Given the description of an element on the screen output the (x, y) to click on. 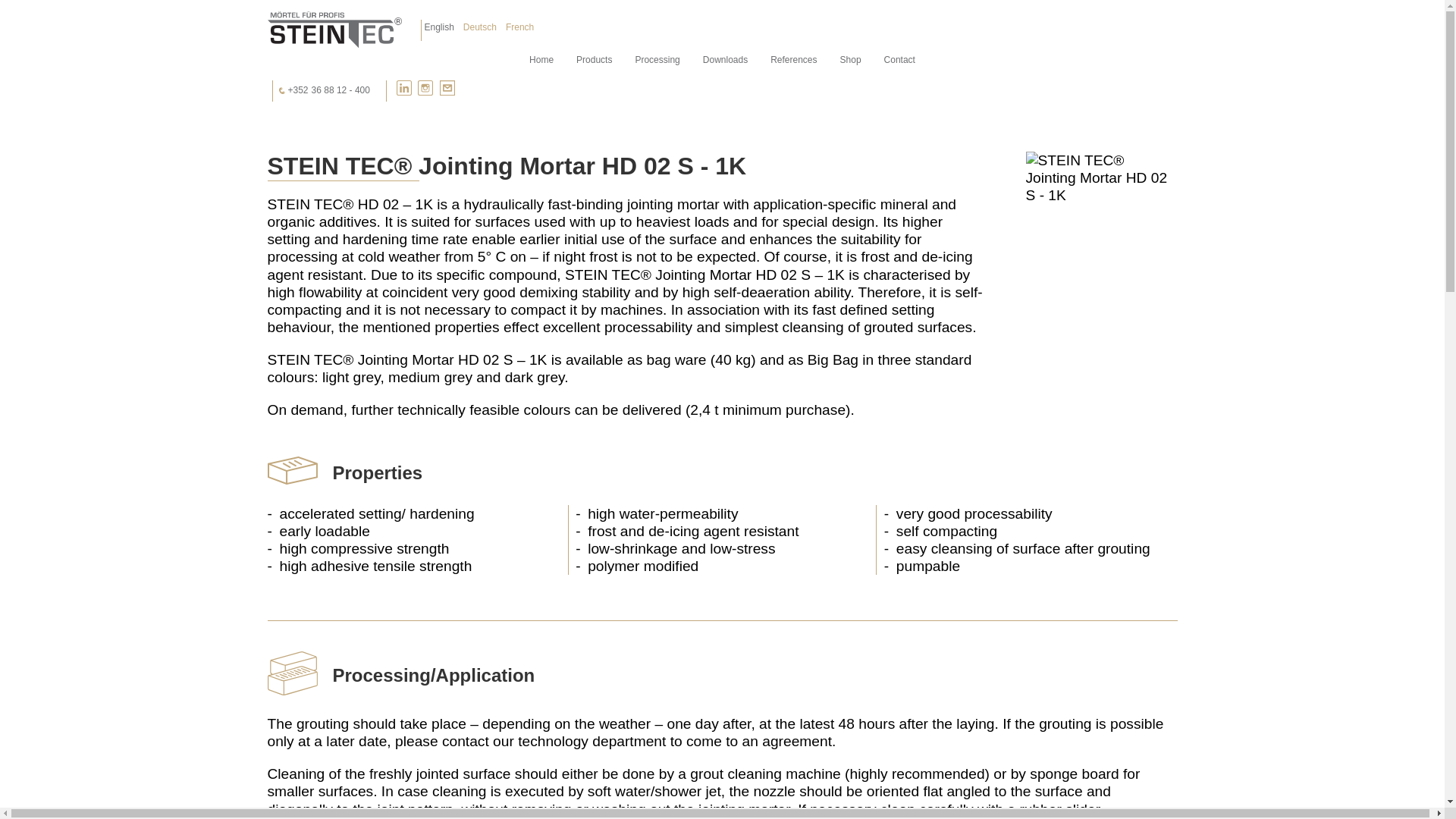
Deutsch (479, 27)
Products (593, 60)
References (793, 60)
French (519, 27)
Downloads (724, 60)
Home (333, 29)
